Given the description of an element on the screen output the (x, y) to click on. 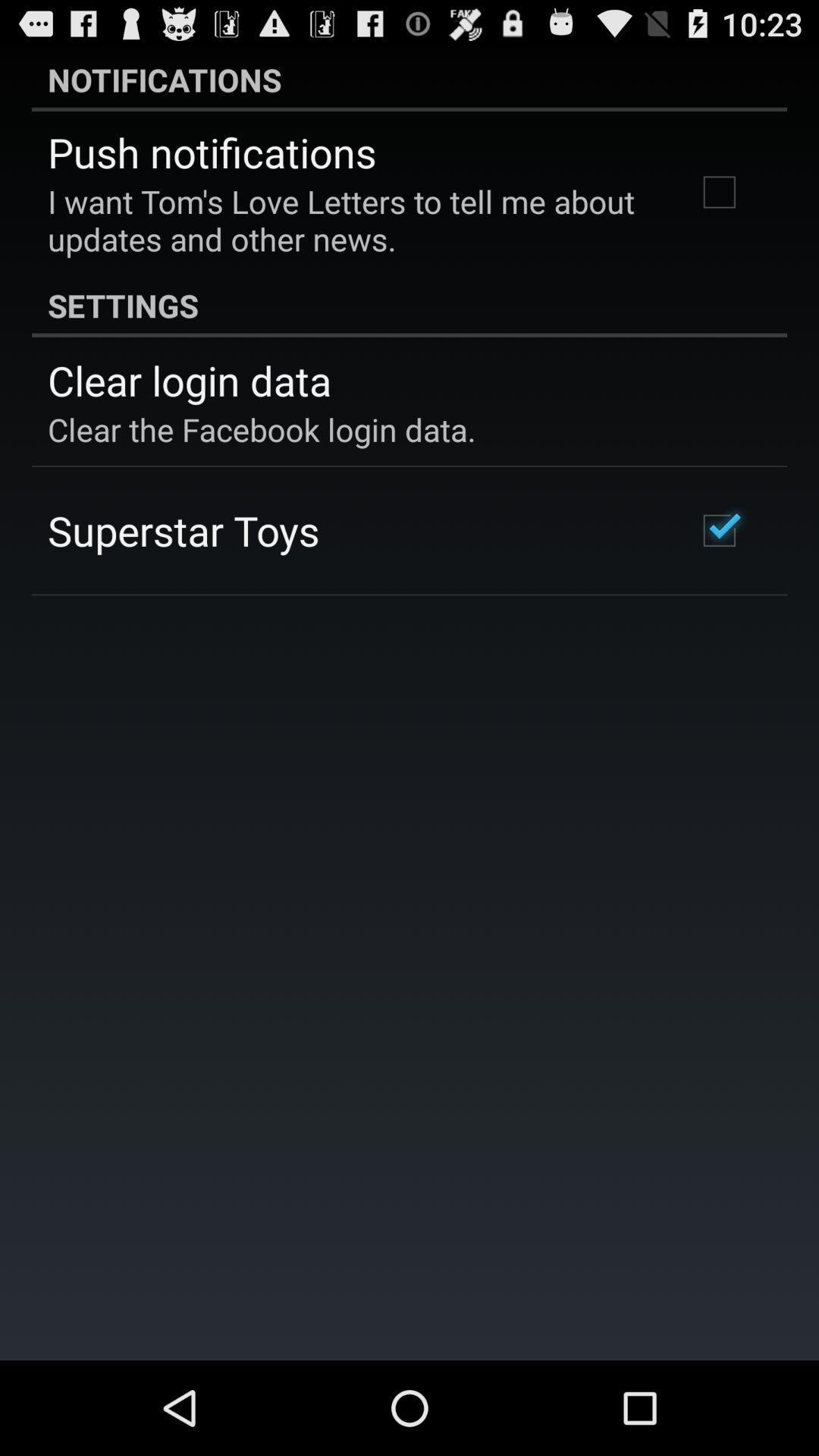
flip to clear the facebook item (261, 429)
